Given the description of an element on the screen output the (x, y) to click on. 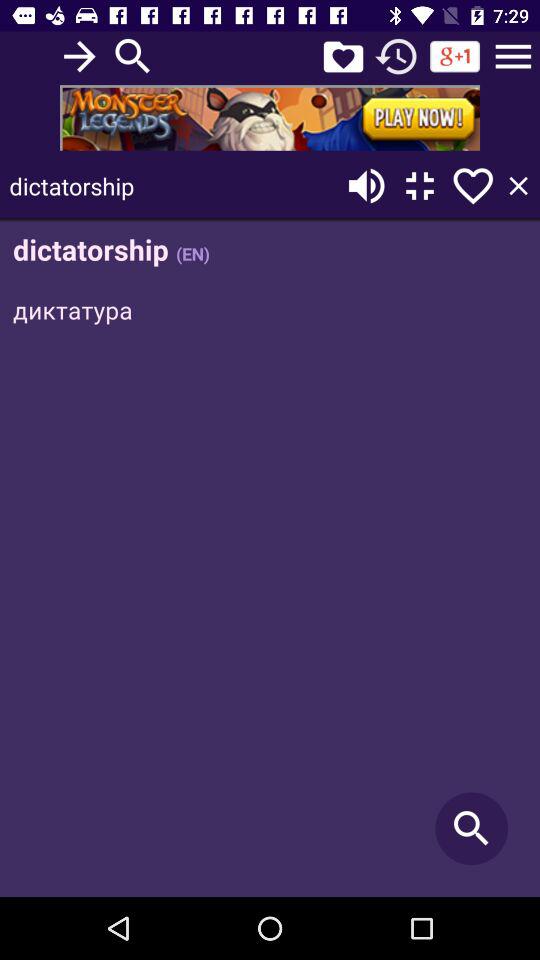
toggle volume (366, 185)
